Given the description of an element on the screen output the (x, y) to click on. 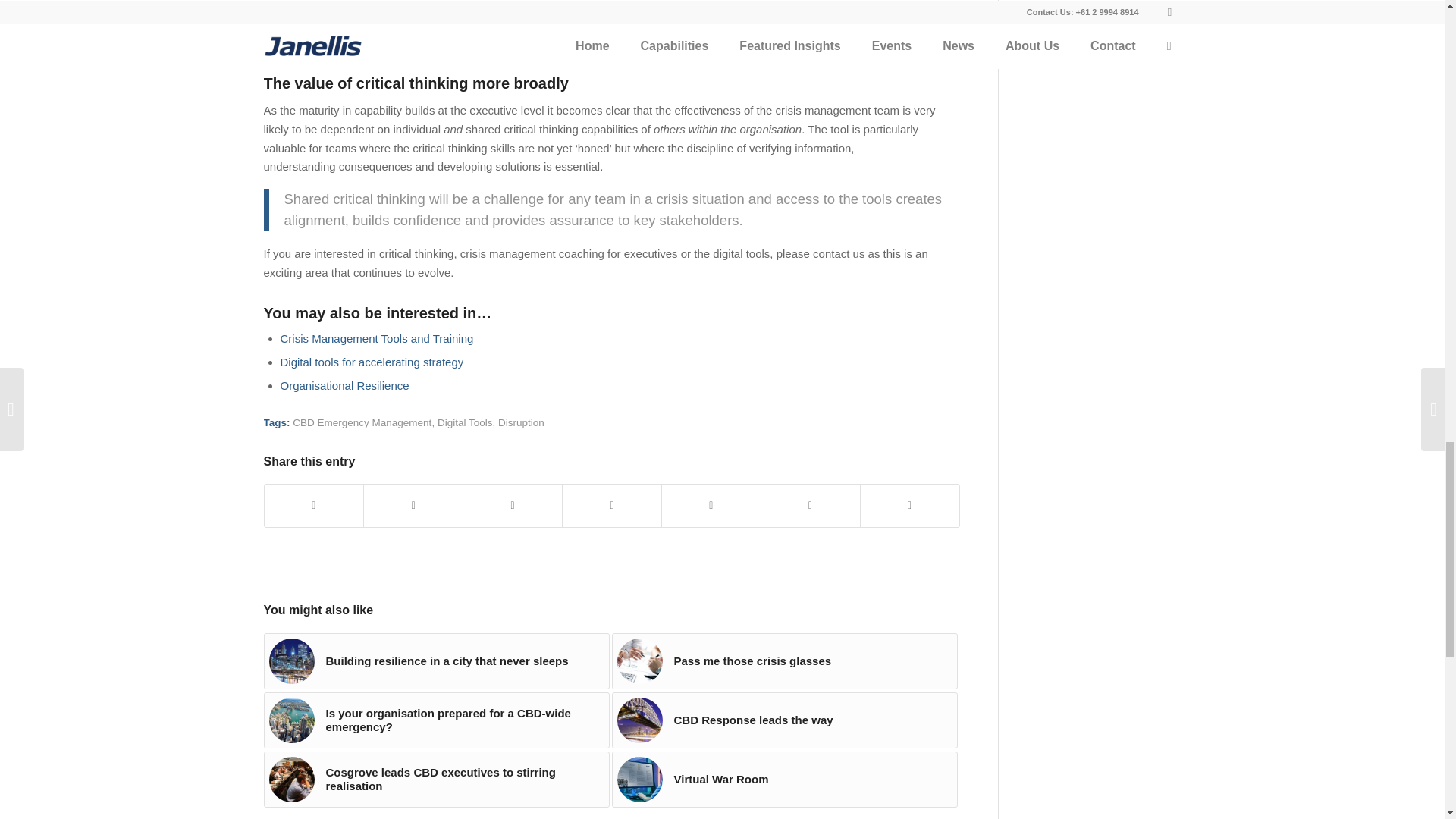
Building resilience in a city that never sleeps (436, 661)
Pass me those crisis glasses (783, 661)
Is your organisation prepared for a CBD-wide emergency? (436, 720)
